Given the description of an element on the screen output the (x, y) to click on. 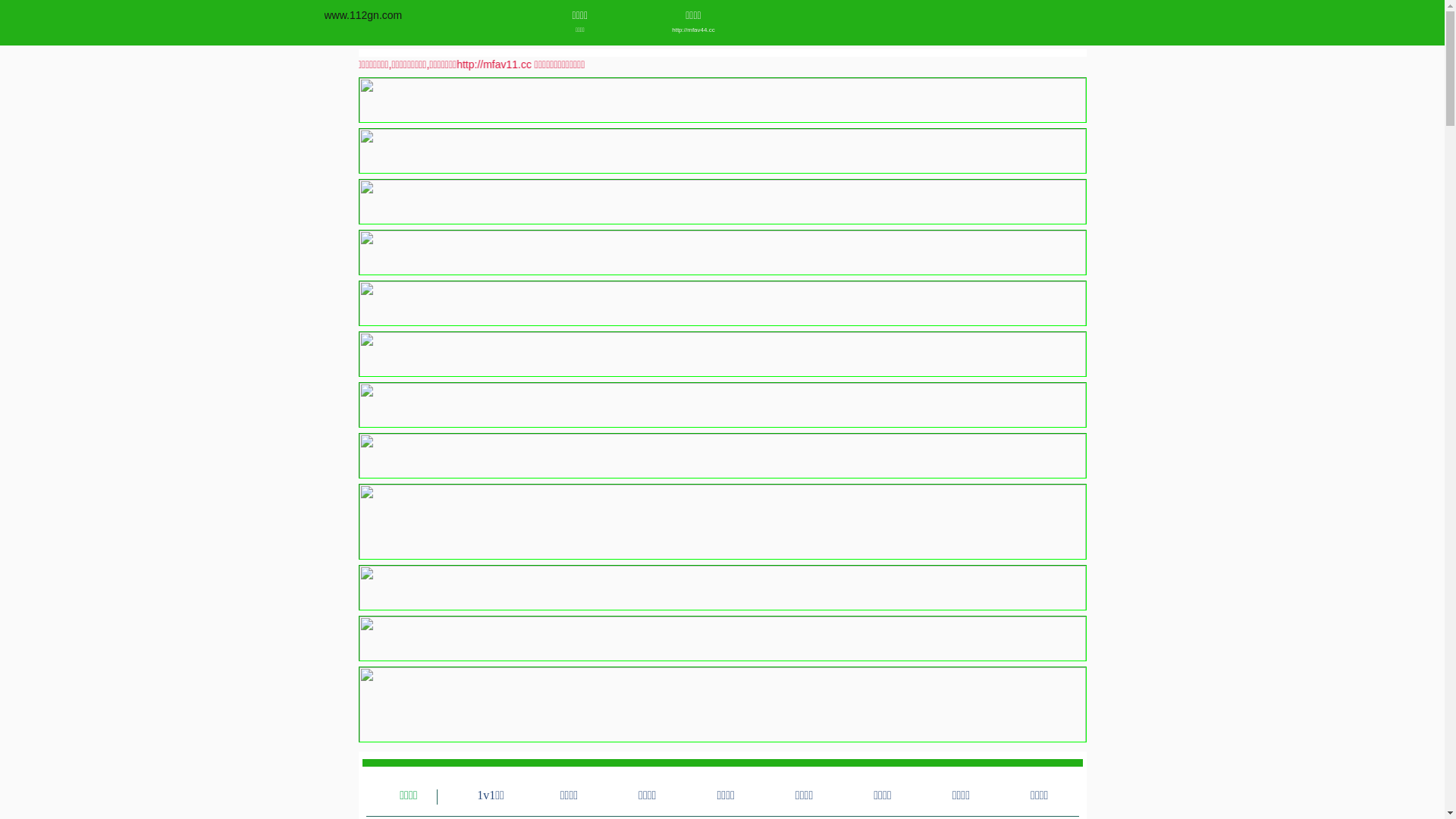
www.112gn.com Element type: text (363, 15)
http://mfav44.cc Element type: text (693, 29)
